Given the description of an element on the screen output the (x, y) to click on. 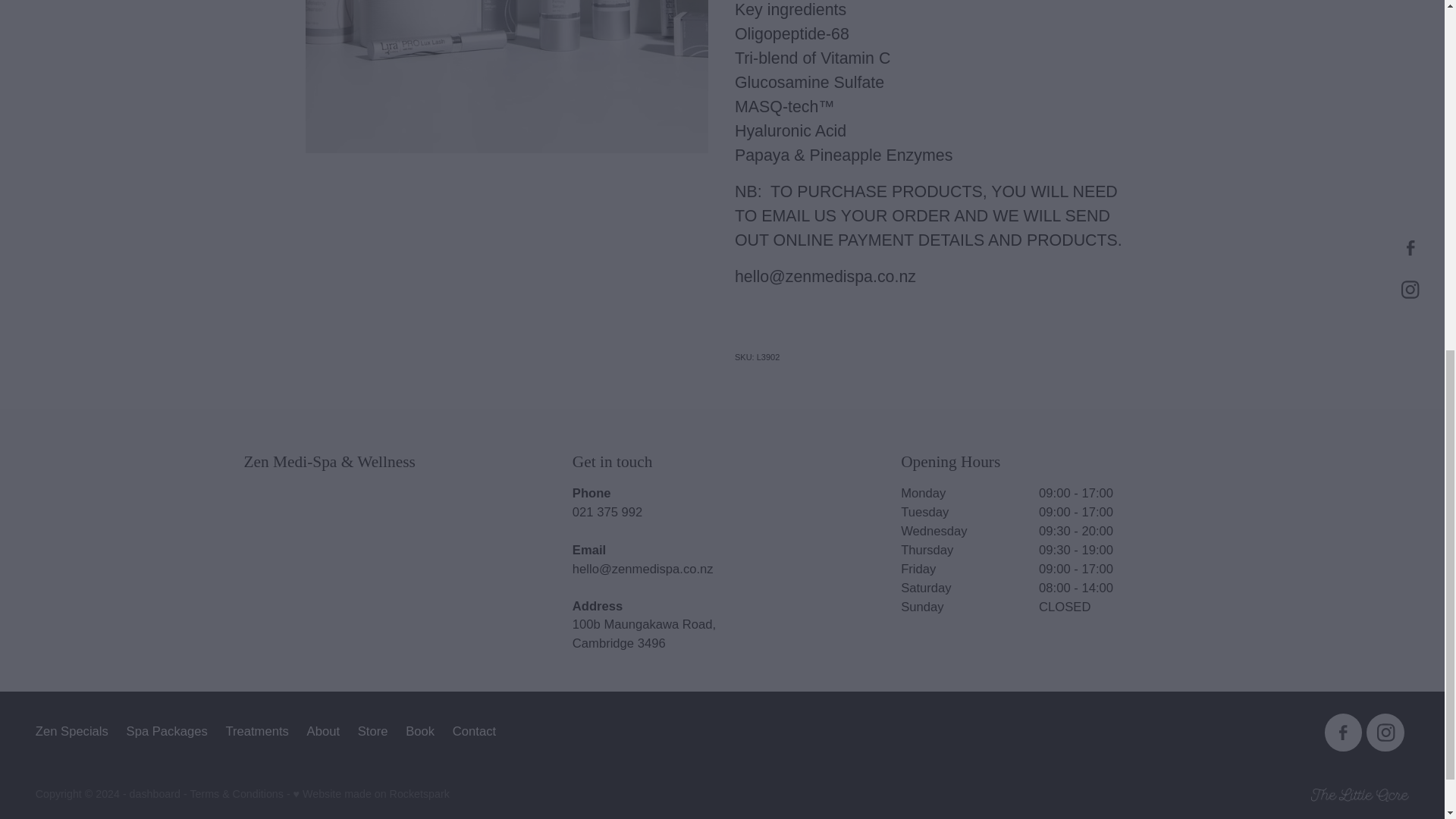
A link to this website's Instagram. (1386, 732)
A link to this website's Facebook. (1343, 732)
